Given the description of an element on the screen output the (x, y) to click on. 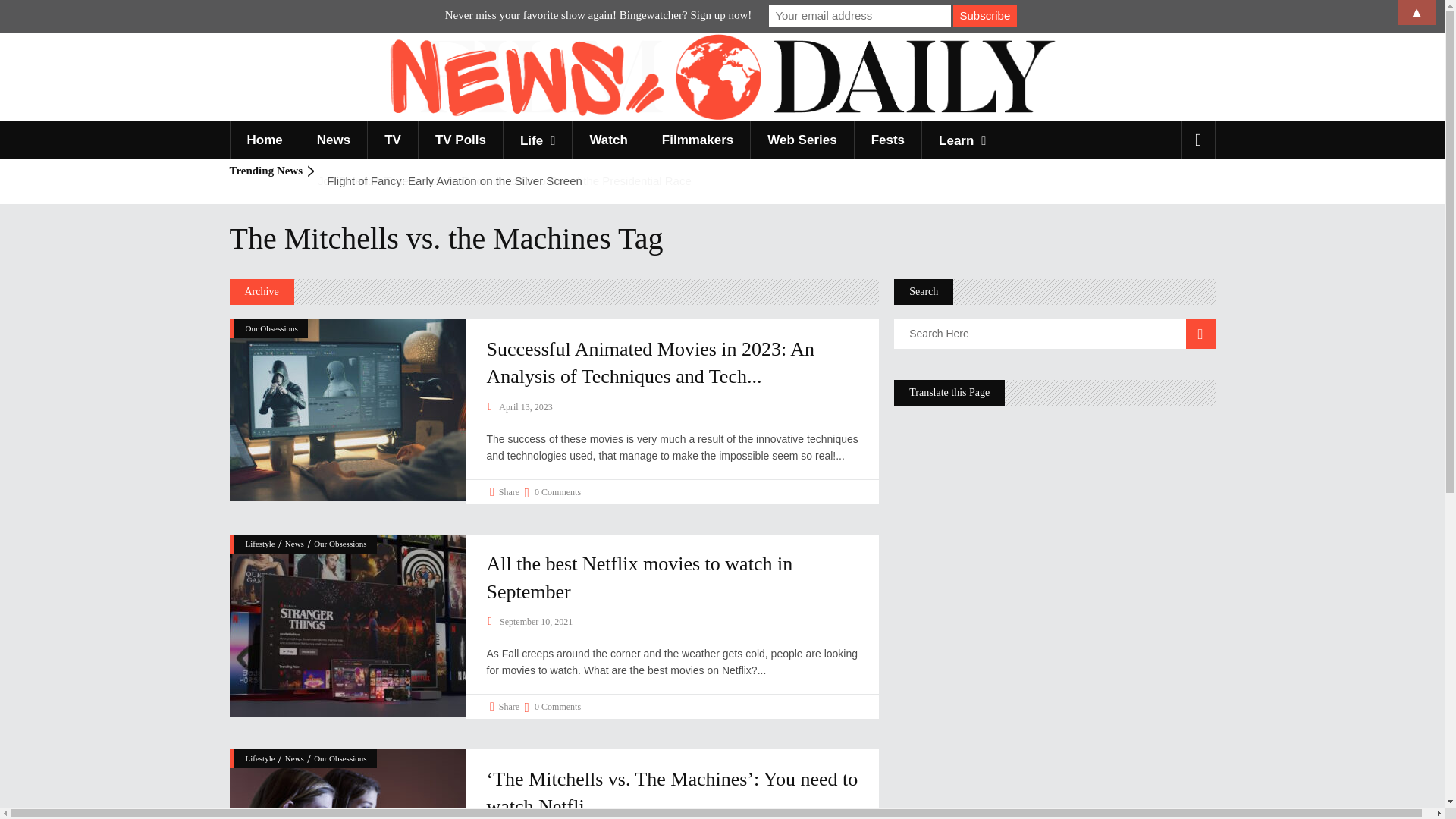
Watch (607, 139)
TV (391, 139)
News (332, 139)
Learn (962, 139)
Subscribe (984, 15)
TV Polls (459, 139)
Web Series (801, 139)
Fests (887, 139)
Filmmakers (698, 139)
Life (537, 139)
Home (263, 139)
